Given the description of an element on the screen output the (x, y) to click on. 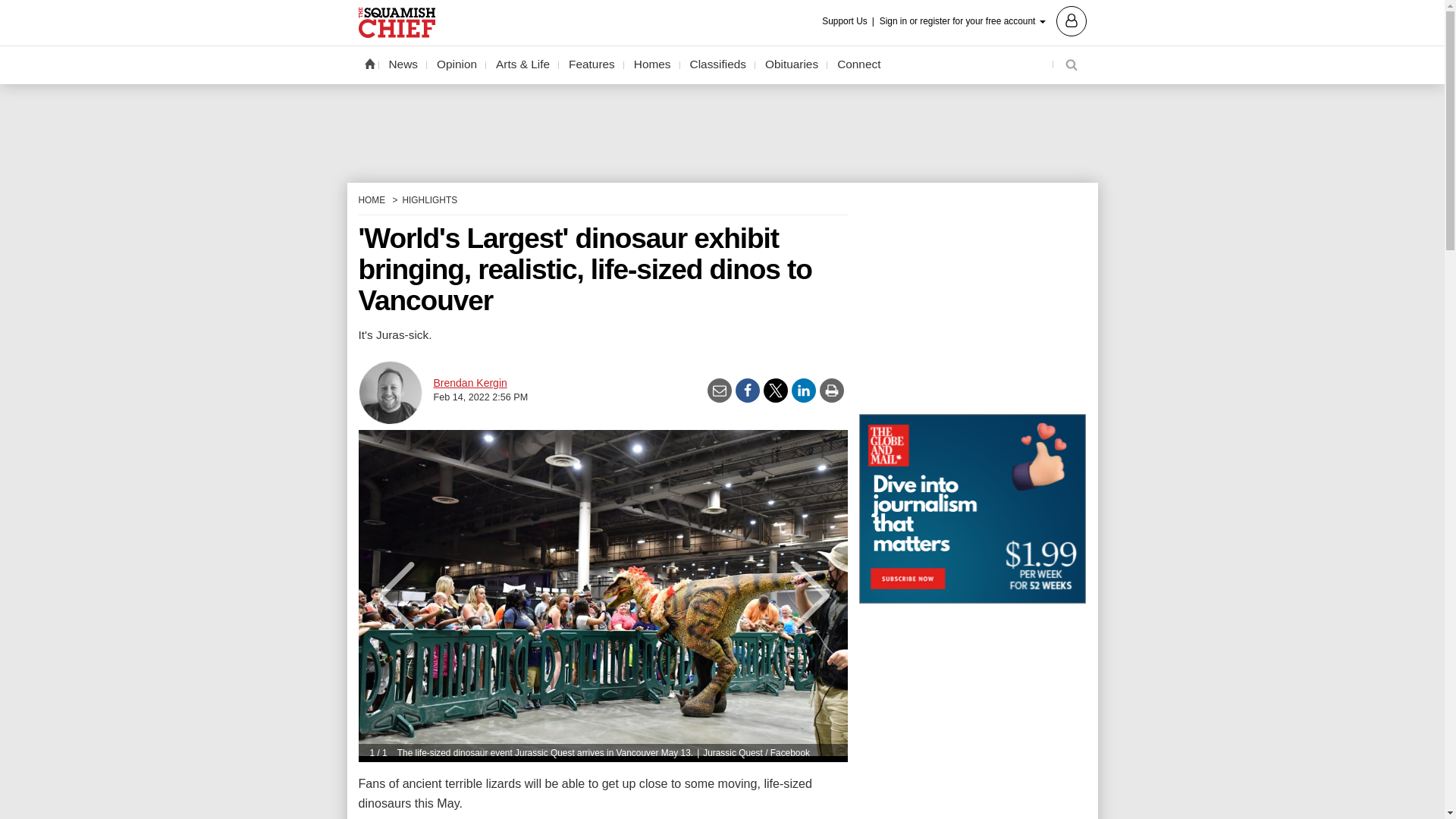
Support Us (849, 21)
News (403, 64)
Opinion (456, 64)
Home (368, 63)
Sign in or register for your free account (982, 20)
